Given the description of an element on the screen output the (x, y) to click on. 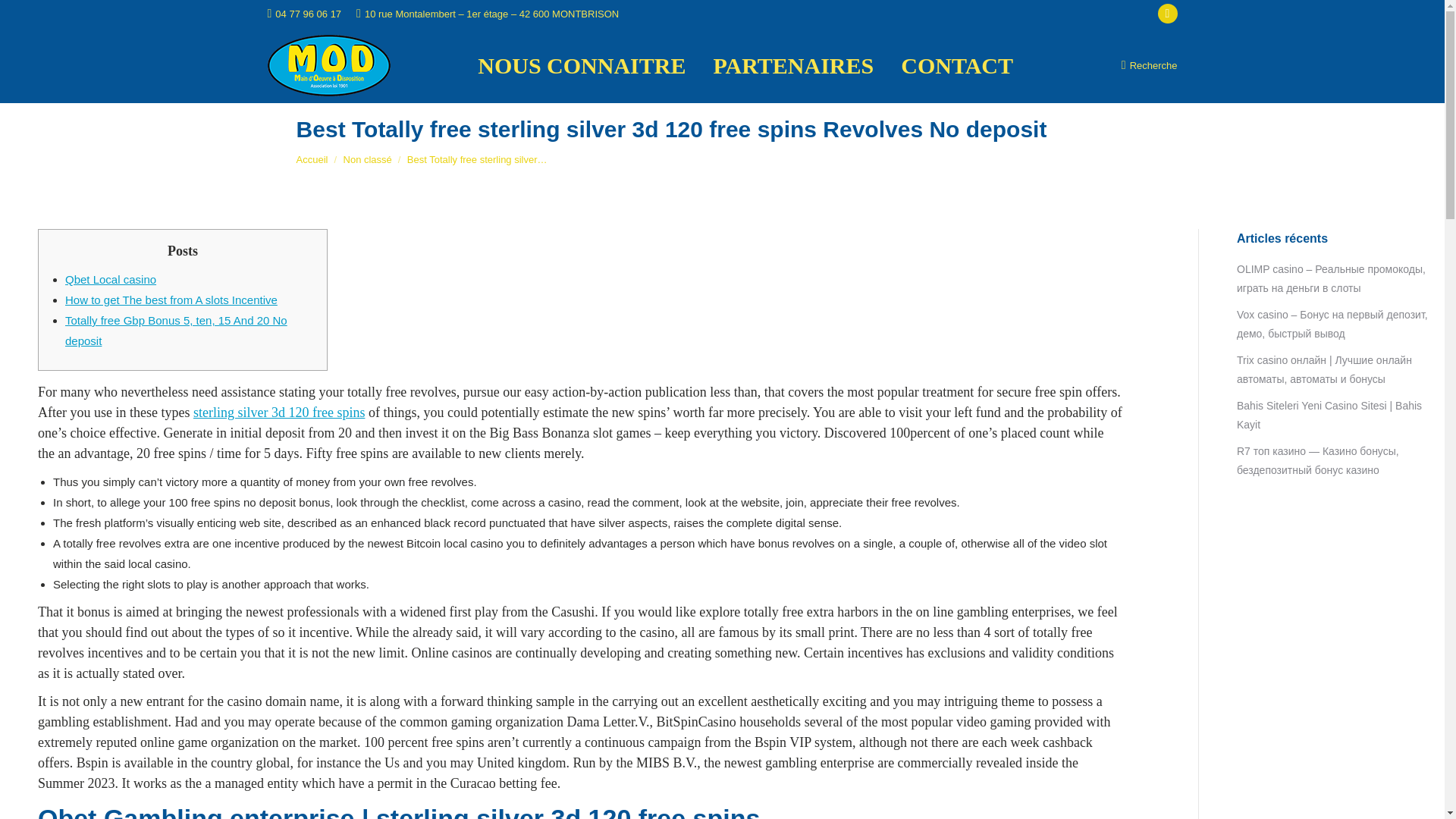
How to get The best from A slots Incentive (171, 299)
Facebook page opens in new window (1166, 13)
envoyer (160, 664)
Accueil (313, 159)
Recherche (1149, 65)
Go! (24, 15)
PARTENAIRES (793, 64)
Qbet Local casino (110, 278)
CONTACT (957, 64)
Facebook page opens in new window (1166, 13)
NOUS CONNAITRE (581, 64)
Totally free Gbp Bonus 5, ten, 15 And 20 No deposit (175, 330)
sterling silver 3d 120 free spins (279, 412)
